Given the description of an element on the screen output the (x, y) to click on. 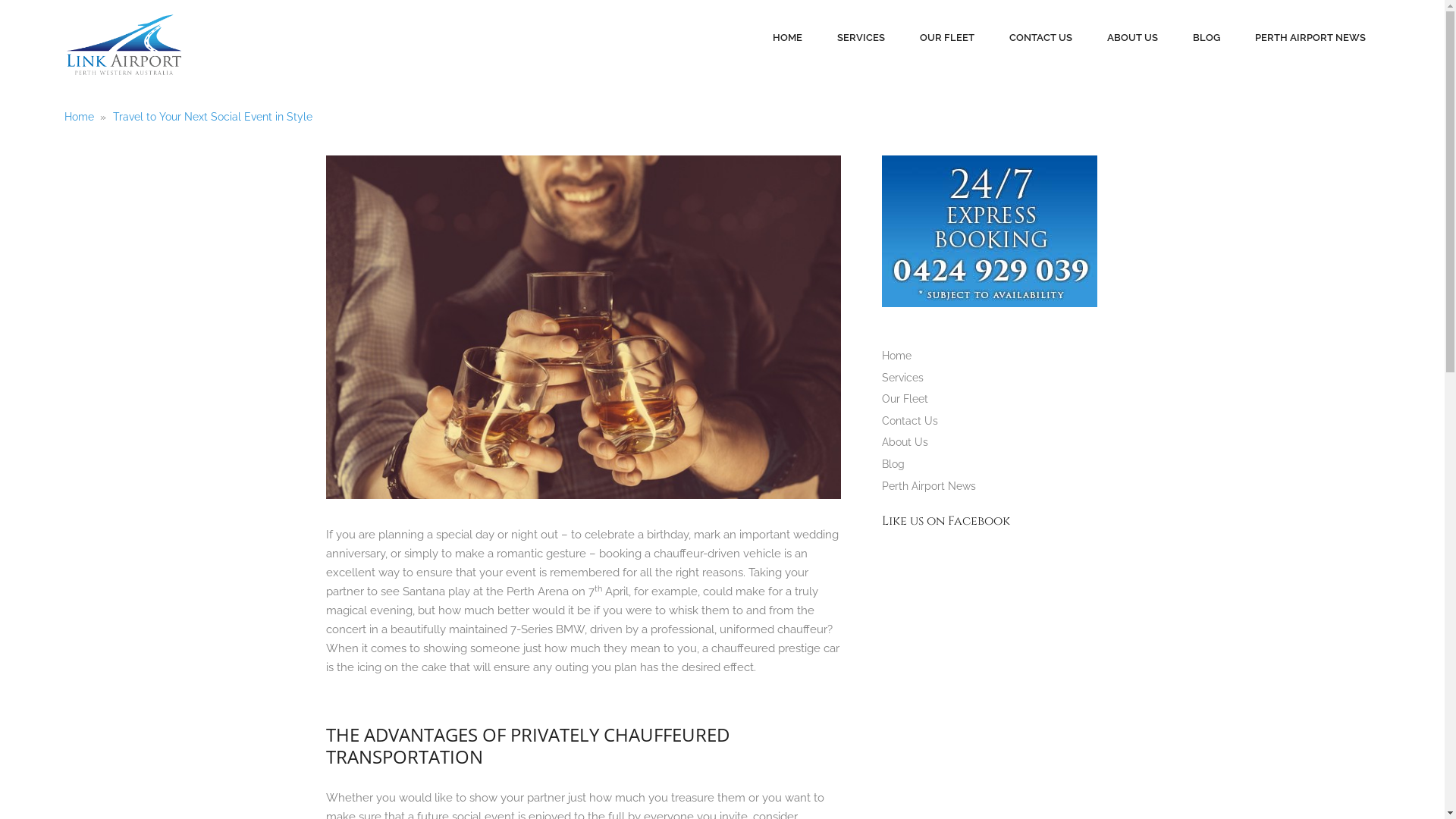
Our Fleet Element type: text (904, 398)
About Us Element type: text (904, 442)
Blog Element type: text (892, 464)
Services Element type: text (902, 377)
Travel to Your Next Social Event in Style Element type: text (212, 116)
Home Element type: text (79, 116)
Contact Us Element type: text (909, 420)
Perth Airport News Element type: text (928, 486)
Home Element type: text (896, 355)
